Given the description of an element on the screen output the (x, y) to click on. 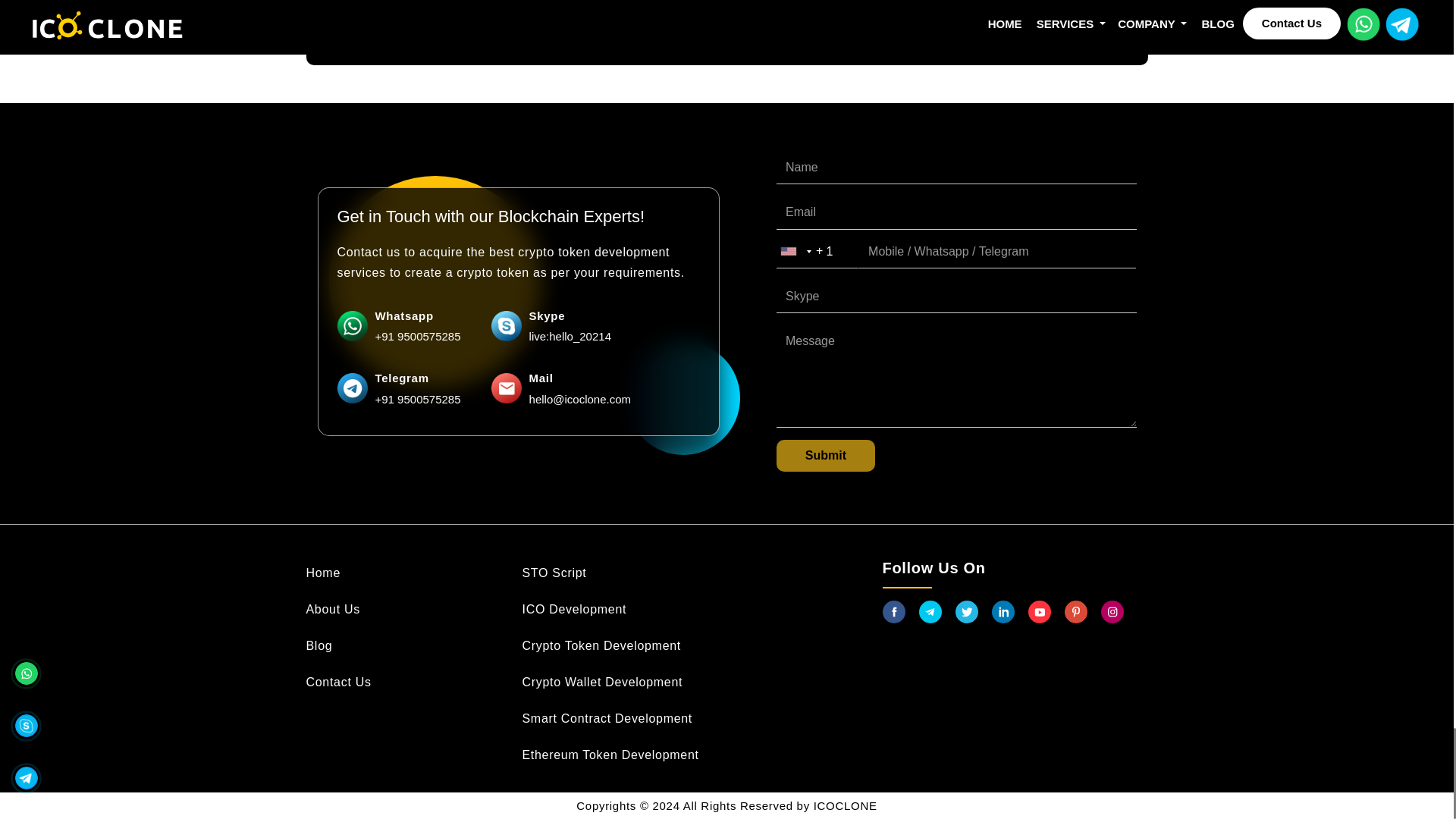
Submit (825, 455)
5. How can startups earn money by creating crypto tokens? (726, 10)
1 (835, 251)
Submit (825, 455)
